Given the description of an element on the screen output the (x, y) to click on. 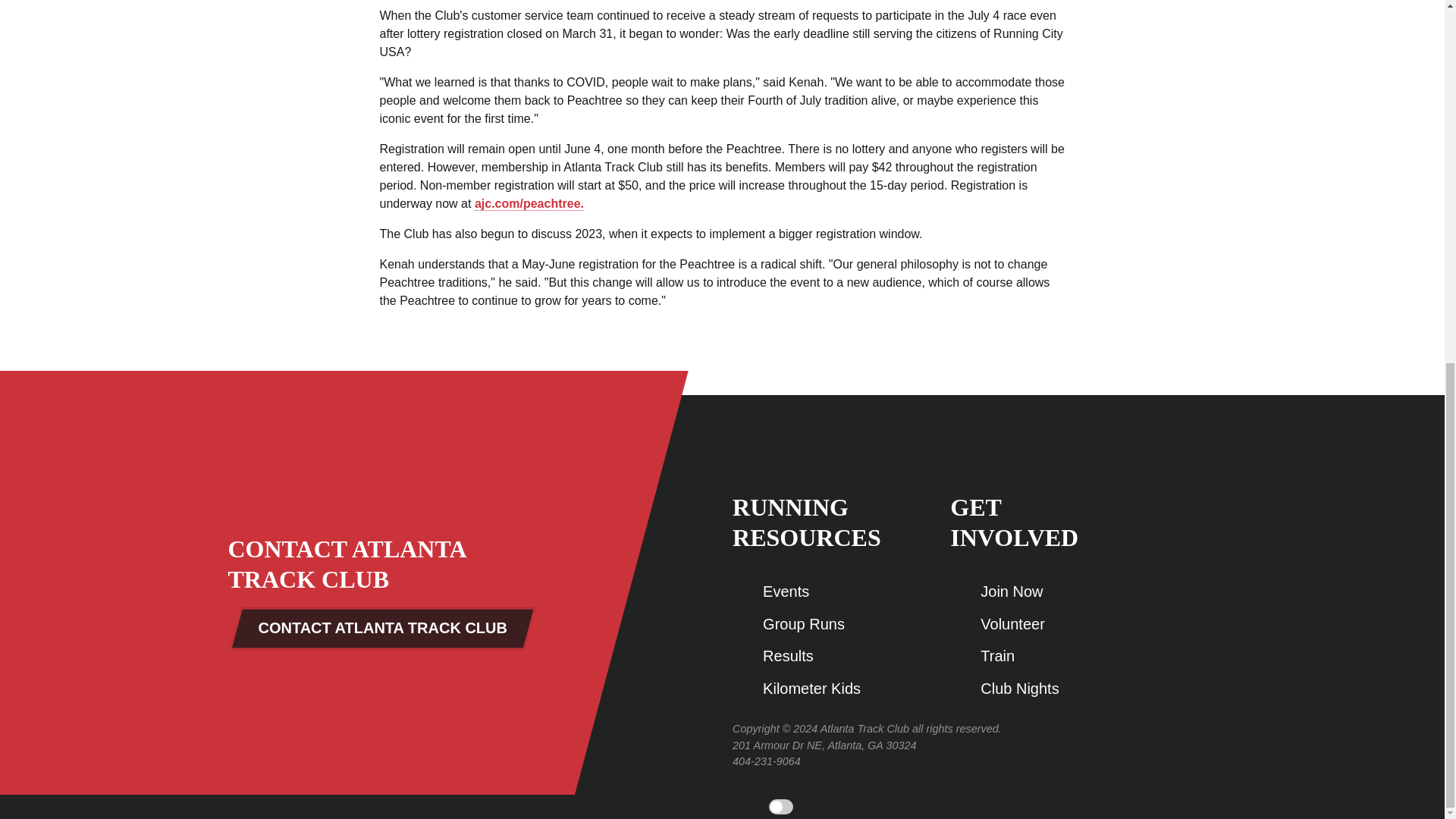
LinkedIn (1191, 588)
YouTube (1191, 557)
Facebook (1191, 497)
Instagram (1191, 618)
